Given the description of an element on the screen output the (x, y) to click on. 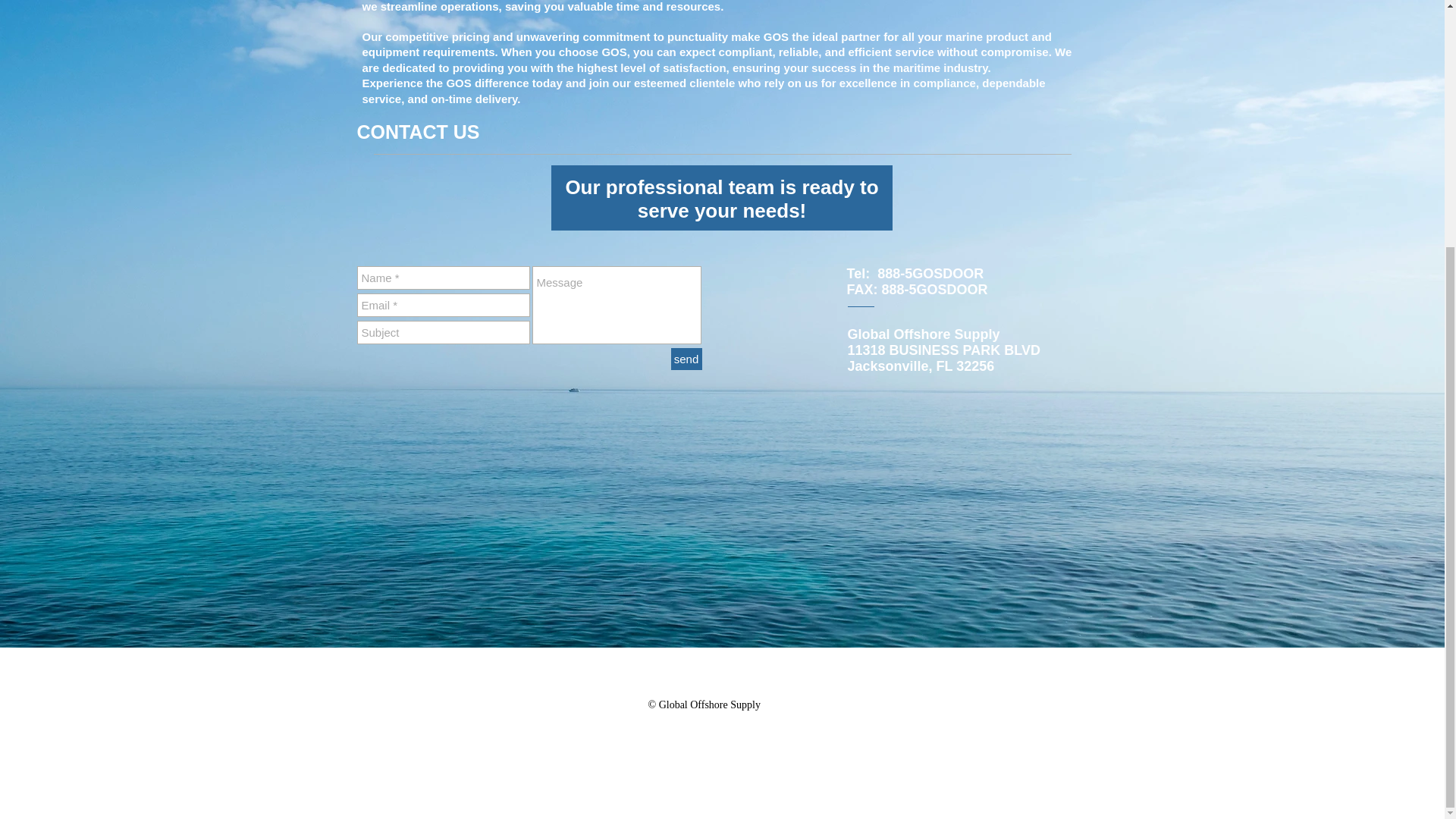
send (685, 359)
